Given the description of an element on the screen output the (x, y) to click on. 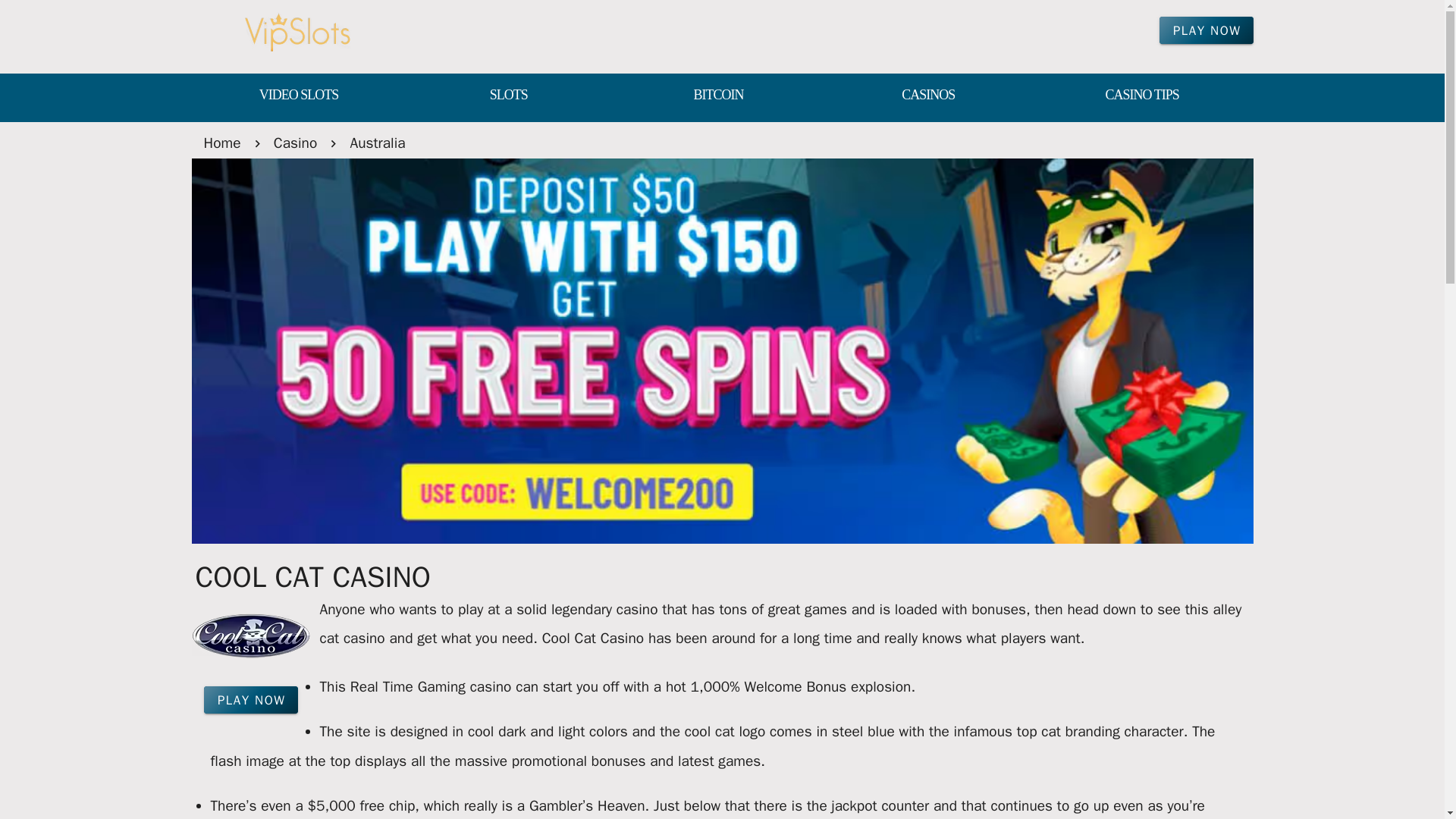
CASINOS (928, 95)
PLAY NOW (250, 699)
SLOTS (508, 95)
PLAY NOW (1205, 30)
Casino (295, 143)
BITCOIN (718, 95)
Australia (376, 143)
Home (221, 143)
VIDEO SLOTS (297, 95)
CASINO TIPS (1141, 95)
